Given the description of an element on the screen output the (x, y) to click on. 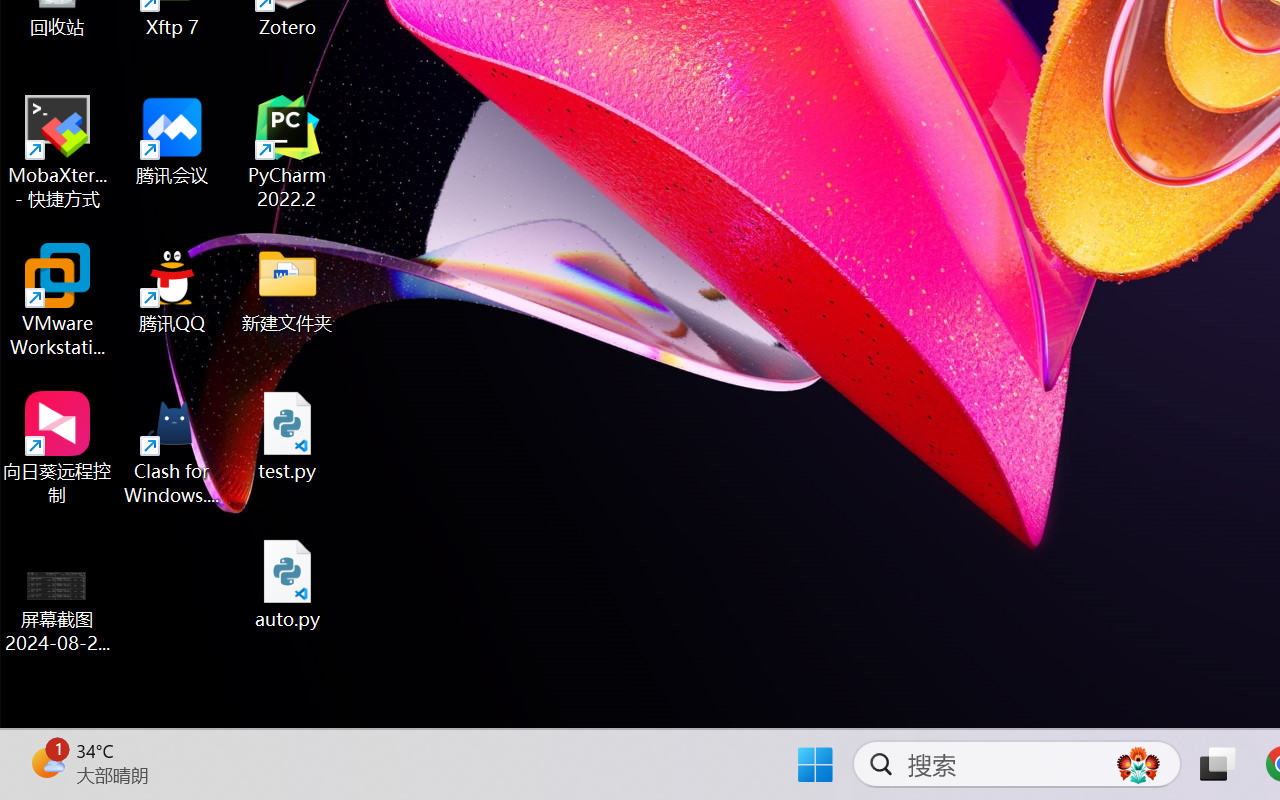
PyCharm 2022.2 (287, 152)
